Given the description of an element on the screen output the (x, y) to click on. 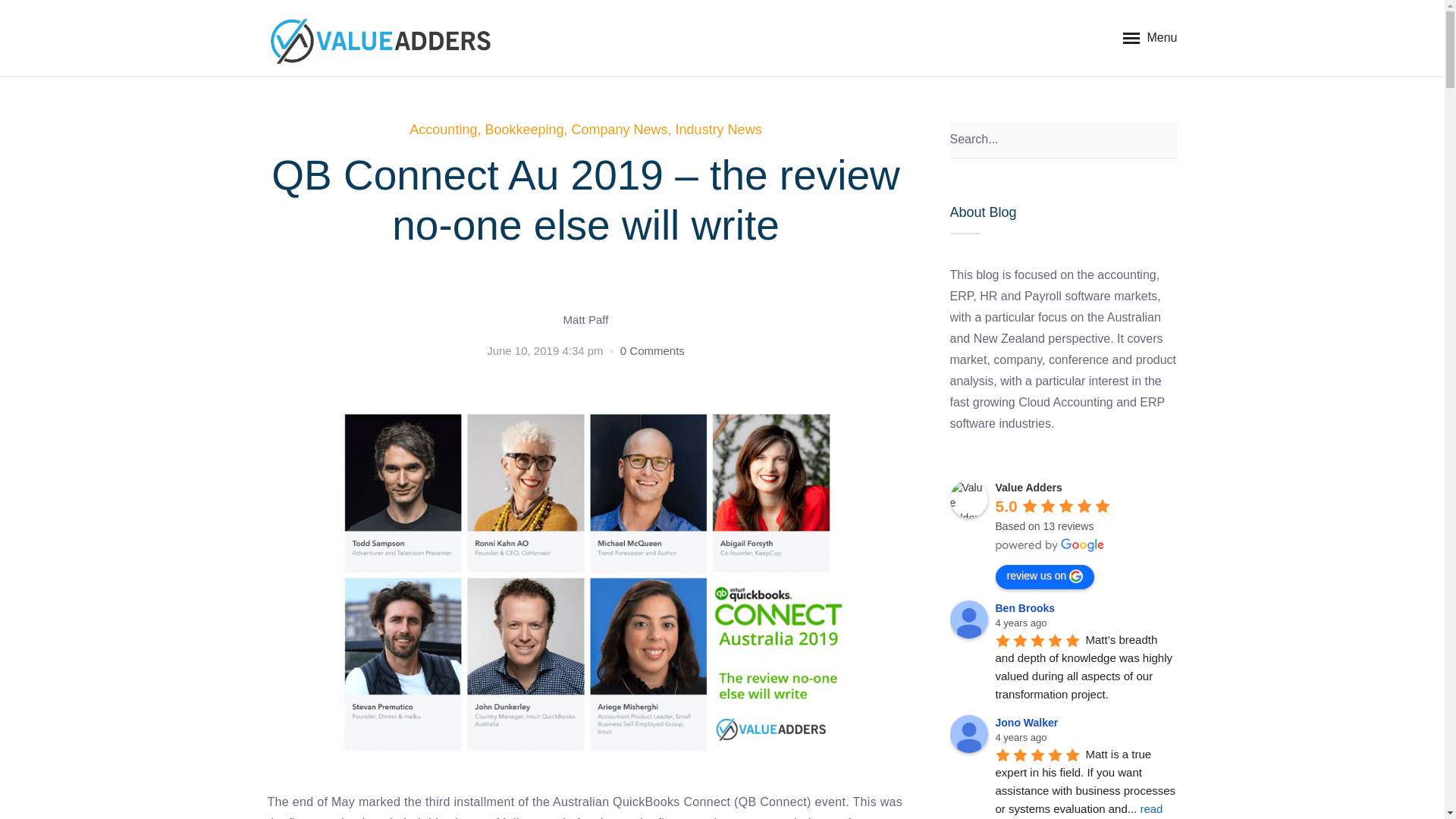
Jono Walker (968, 733)
Bookkeeping (523, 129)
Search... (1062, 139)
Ben Brooks (968, 619)
Search... (1062, 139)
powered by Google (1048, 545)
Accounting (443, 129)
Industry News (718, 129)
Comments (652, 350)
0 Comments (652, 350)
